Given the description of an element on the screen output the (x, y) to click on. 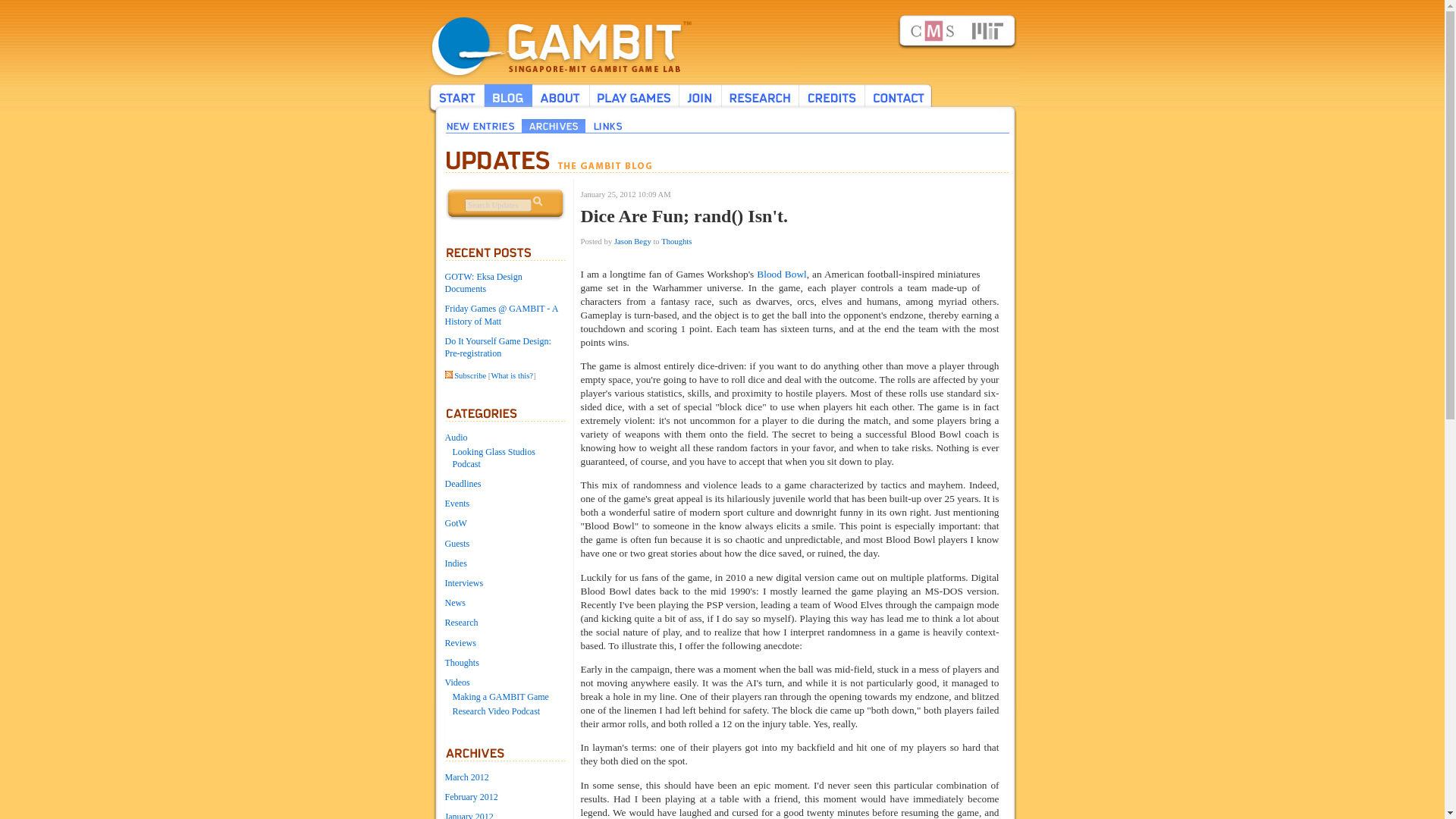
News (454, 602)
Search Updates (497, 205)
Audio (455, 437)
Research (460, 622)
Do It Yourself Game Design: Pre-registration (497, 346)
Search (537, 201)
January 2012 (468, 815)
Search Updates (497, 205)
Indies (454, 562)
Videos (456, 682)
February 2012 (470, 796)
Looking Glass Studios Podcast (492, 457)
Guests (456, 543)
Making a GAMBIT Game (499, 696)
Interviews (463, 583)
